Given the description of an element on the screen output the (x, y) to click on. 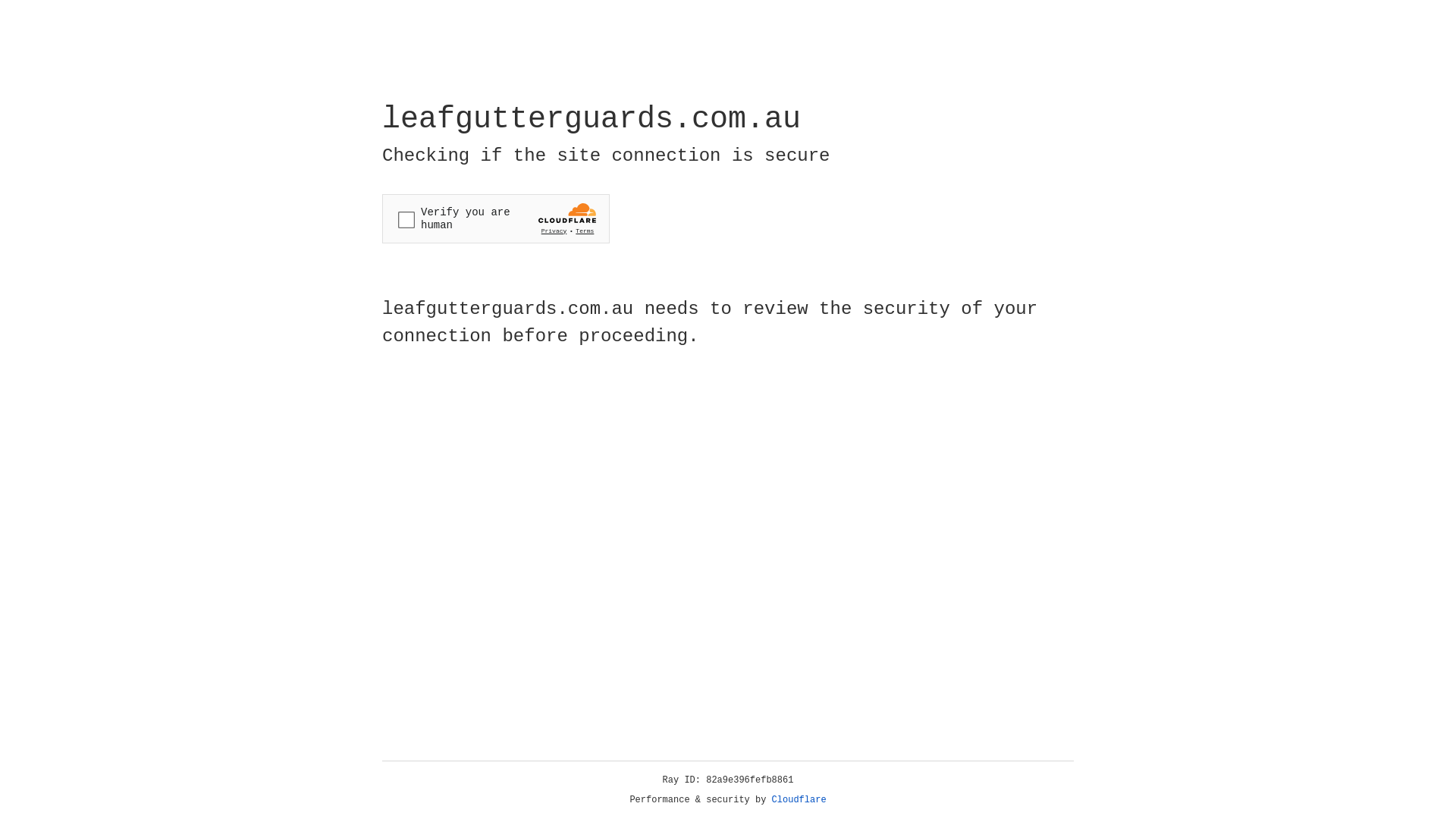
Cloudflare Element type: text (798, 799)
Widget containing a Cloudflare security challenge Element type: hover (495, 218)
